Given the description of an element on the screen output the (x, y) to click on. 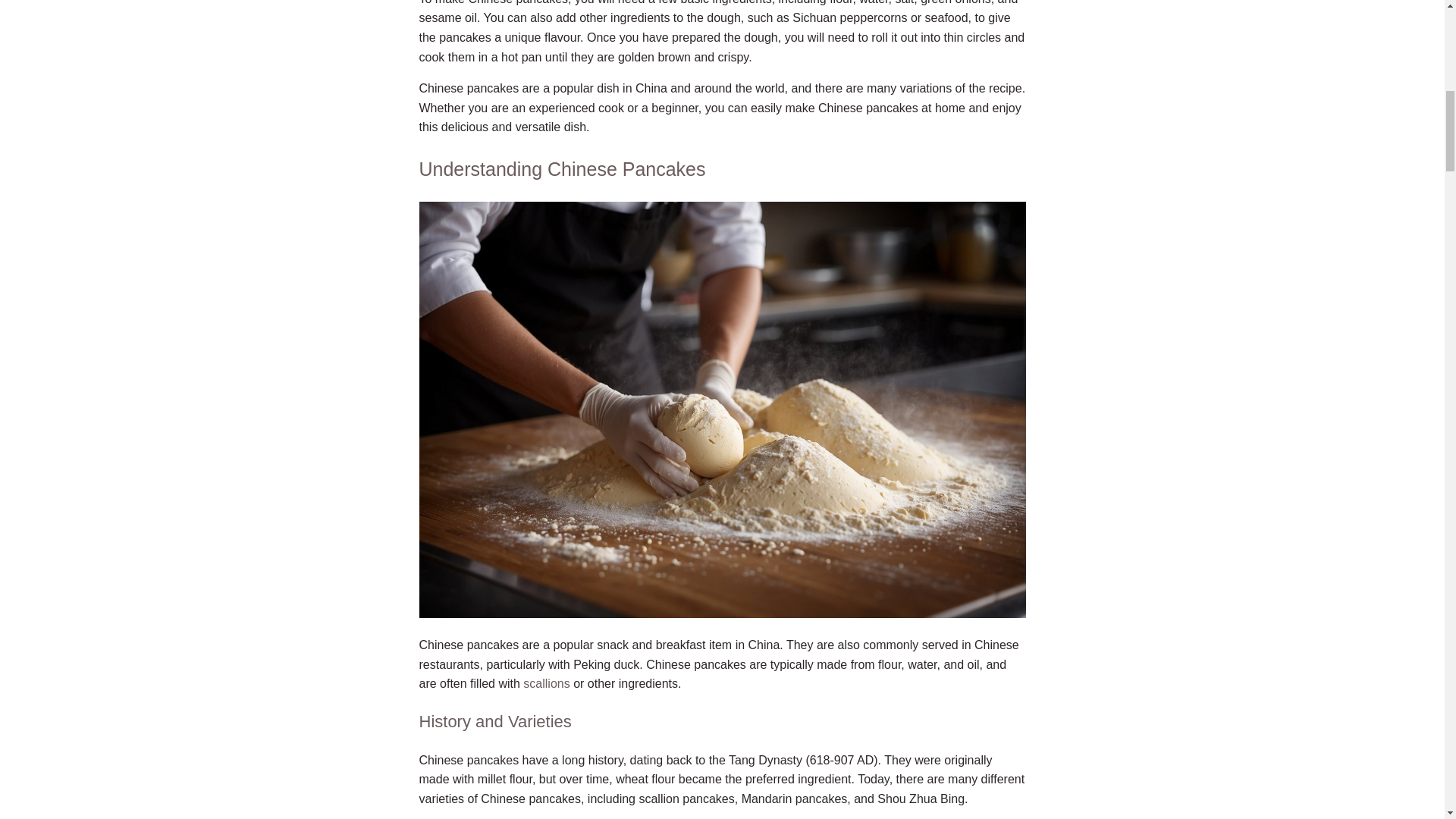
scallions (545, 683)
